Given the description of an element on the screen output the (x, y) to click on. 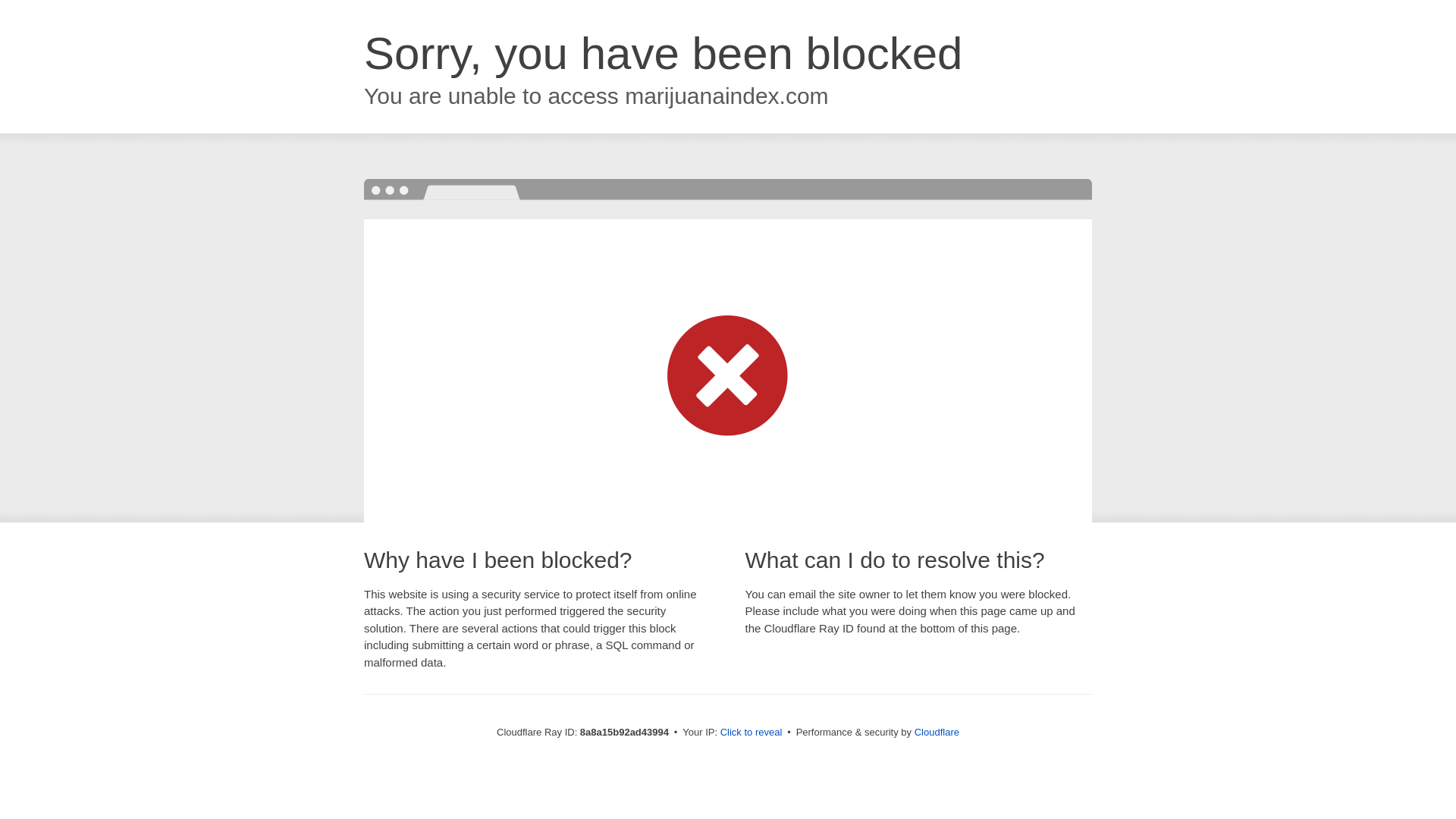
Cloudflare (936, 731)
Click to reveal (751, 732)
